Given the description of an element on the screen output the (x, y) to click on. 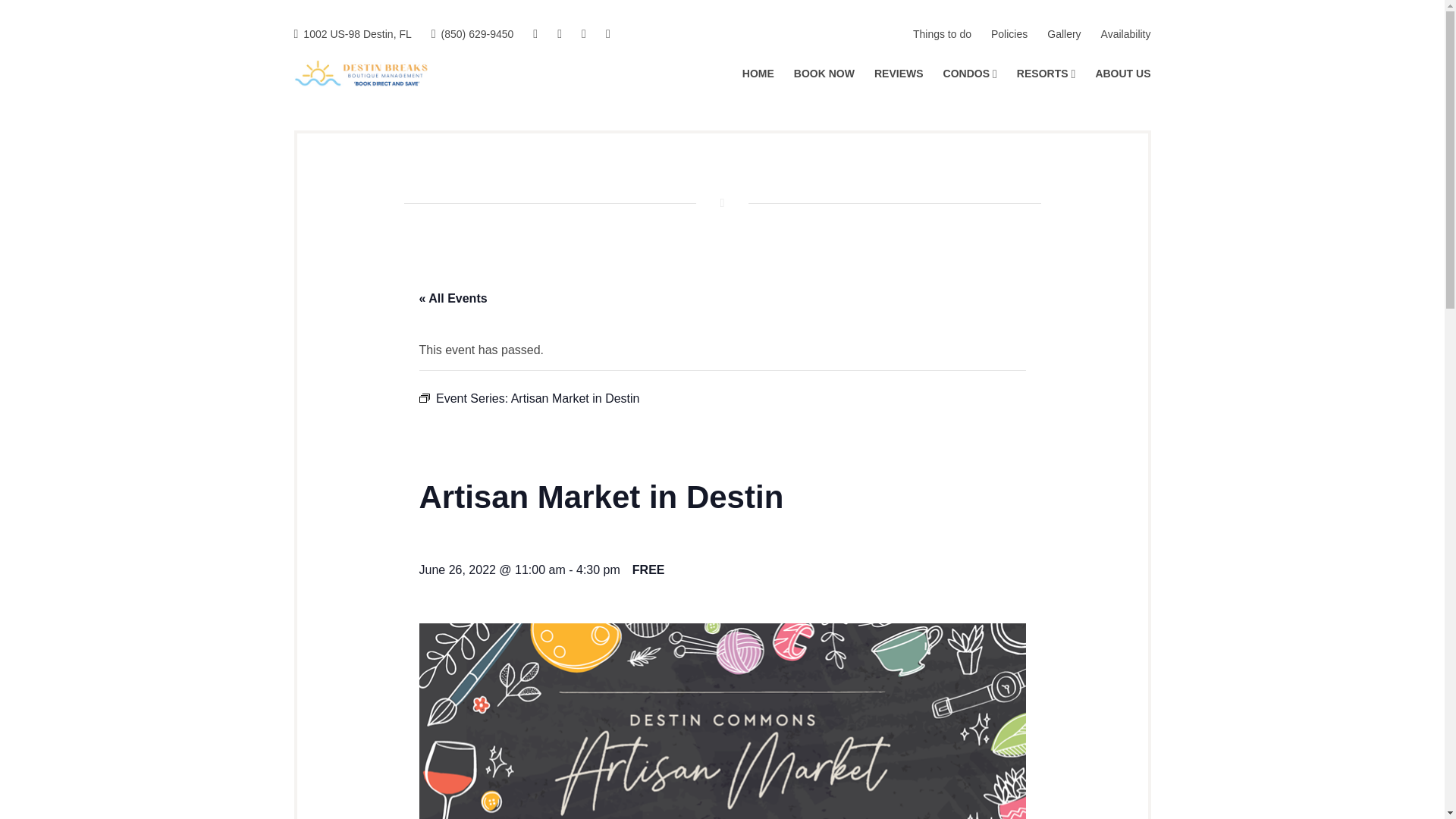
Instagram (559, 34)
Gallery (1063, 34)
HOME (758, 73)
Things to do (941, 34)
Pinterest (607, 34)
REVIEWS (899, 73)
Policies (1009, 34)
1002 US-98 Destin, FL (353, 34)
Youtube (583, 34)
Event Series (424, 397)
DESTIN CONDO RENTALS (567, 81)
Artisan Market in Destin (575, 398)
ABOUT US (1122, 73)
CONDOS (970, 73)
RESORTS (1045, 73)
